Given the description of an element on the screen output the (x, y) to click on. 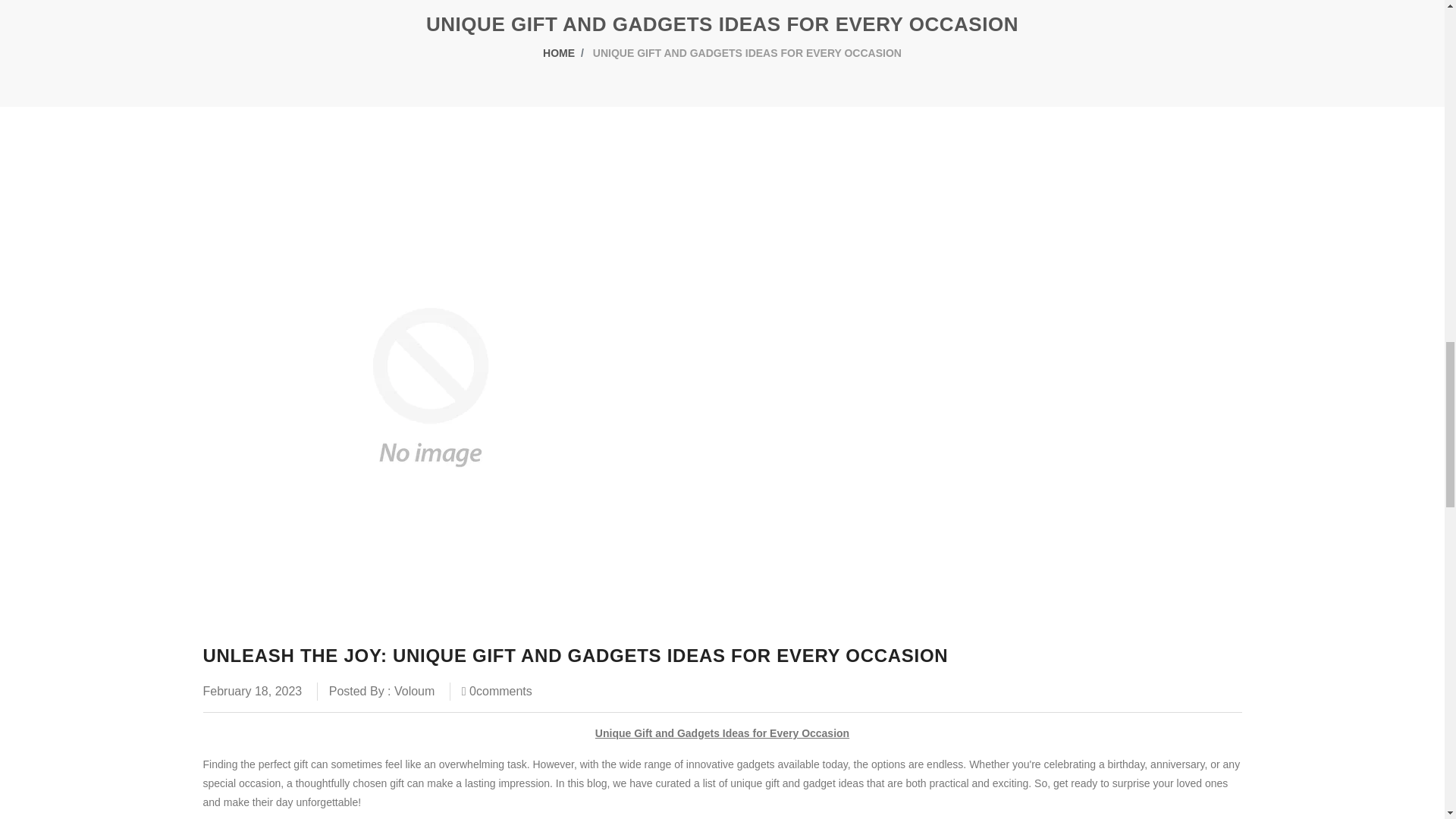
HOME (559, 52)
